Given the description of an element on the screen output the (x, y) to click on. 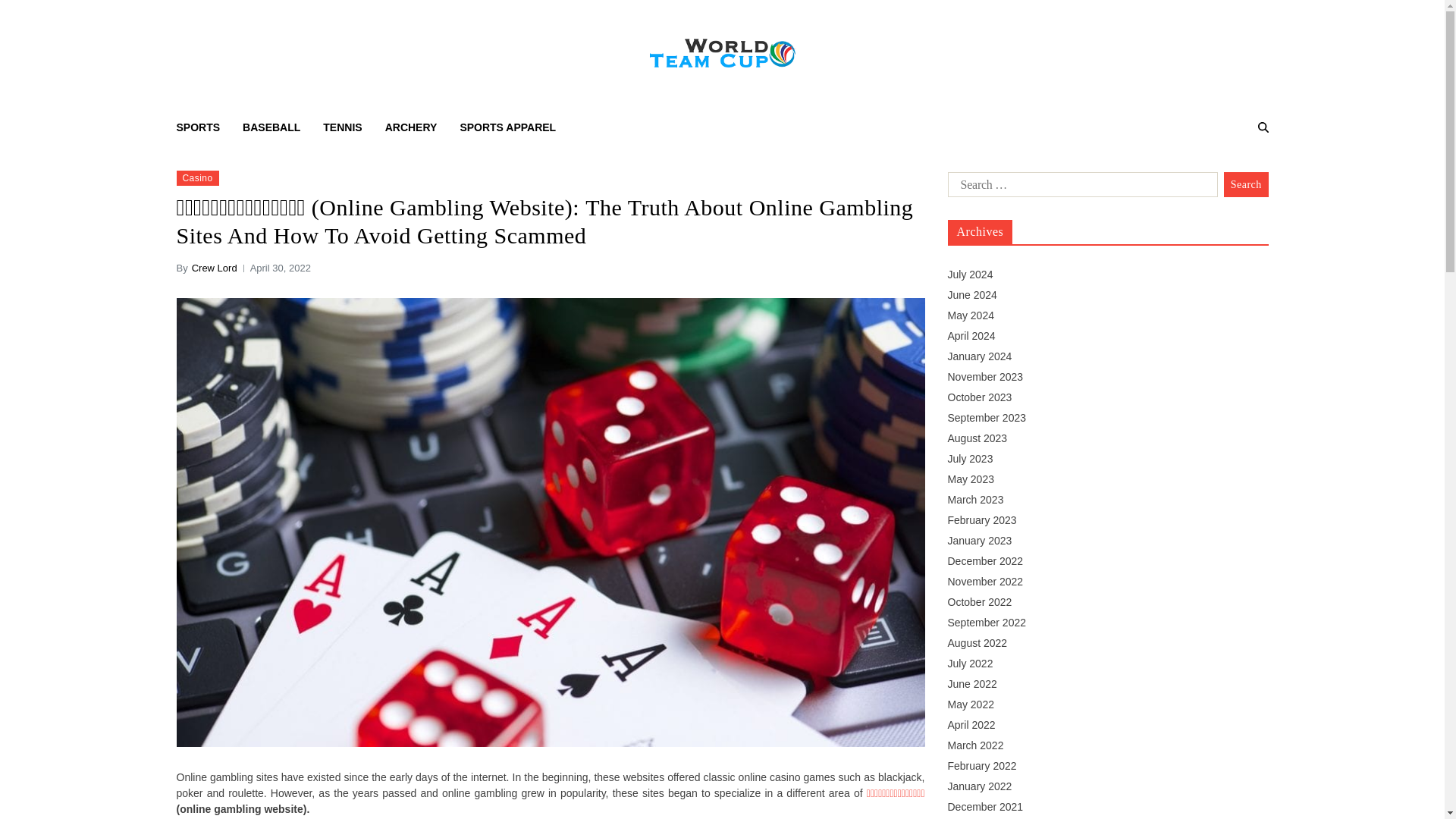
September 2023 (986, 417)
February 2023 (981, 520)
May 2023 (970, 479)
June 2024 (972, 295)
Search (1224, 180)
Casino (197, 177)
March 2023 (975, 499)
Search (1246, 184)
Crew Lord (214, 268)
May 2024 (970, 315)
Search (1246, 184)
World Team Cup (765, 99)
September 2022 (986, 622)
BASEBALL (271, 127)
April 2024 (971, 336)
